Given the description of an element on the screen output the (x, y) to click on. 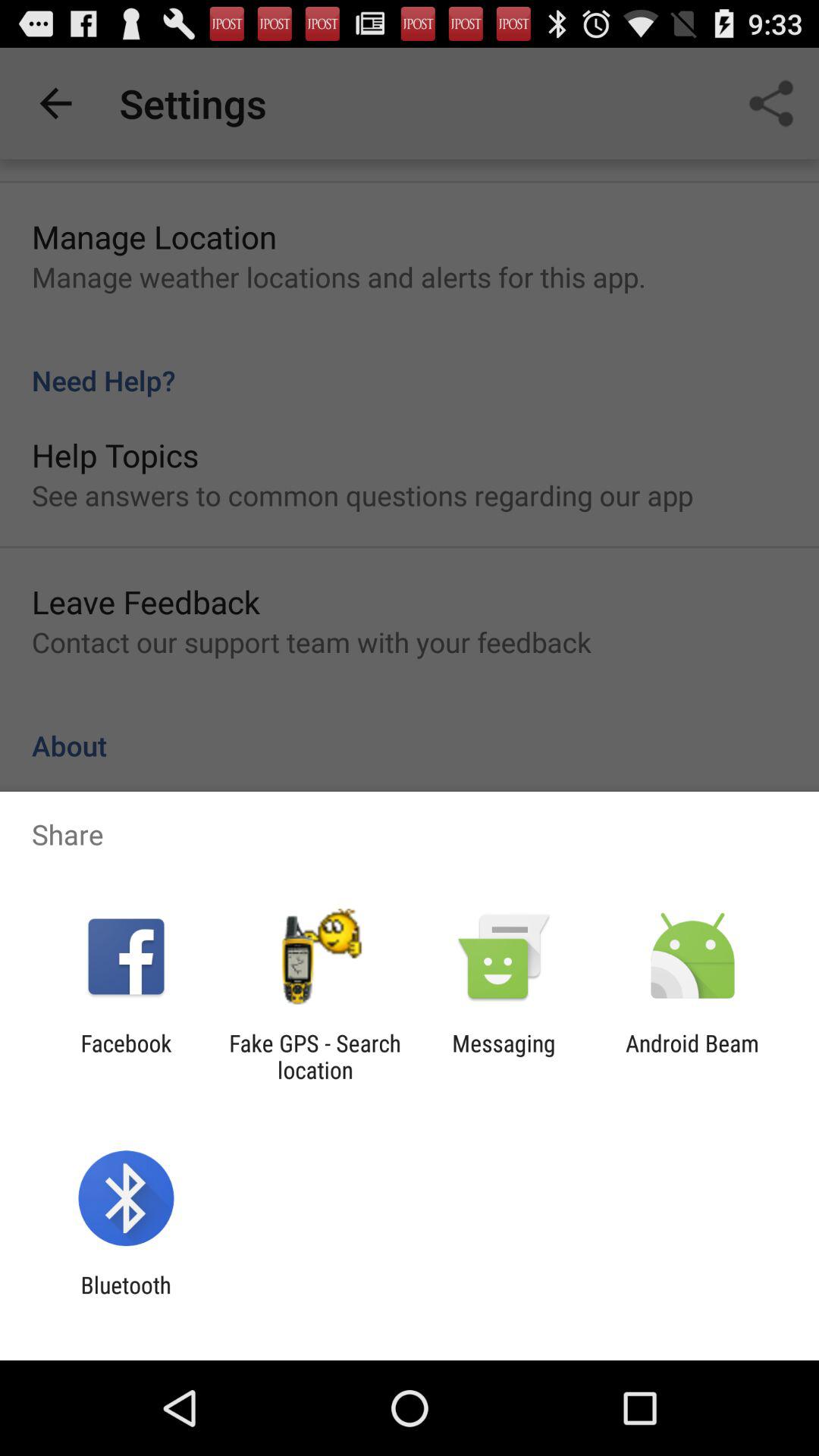
scroll until the bluetooth (125, 1298)
